Given the description of an element on the screen output the (x, y) to click on. 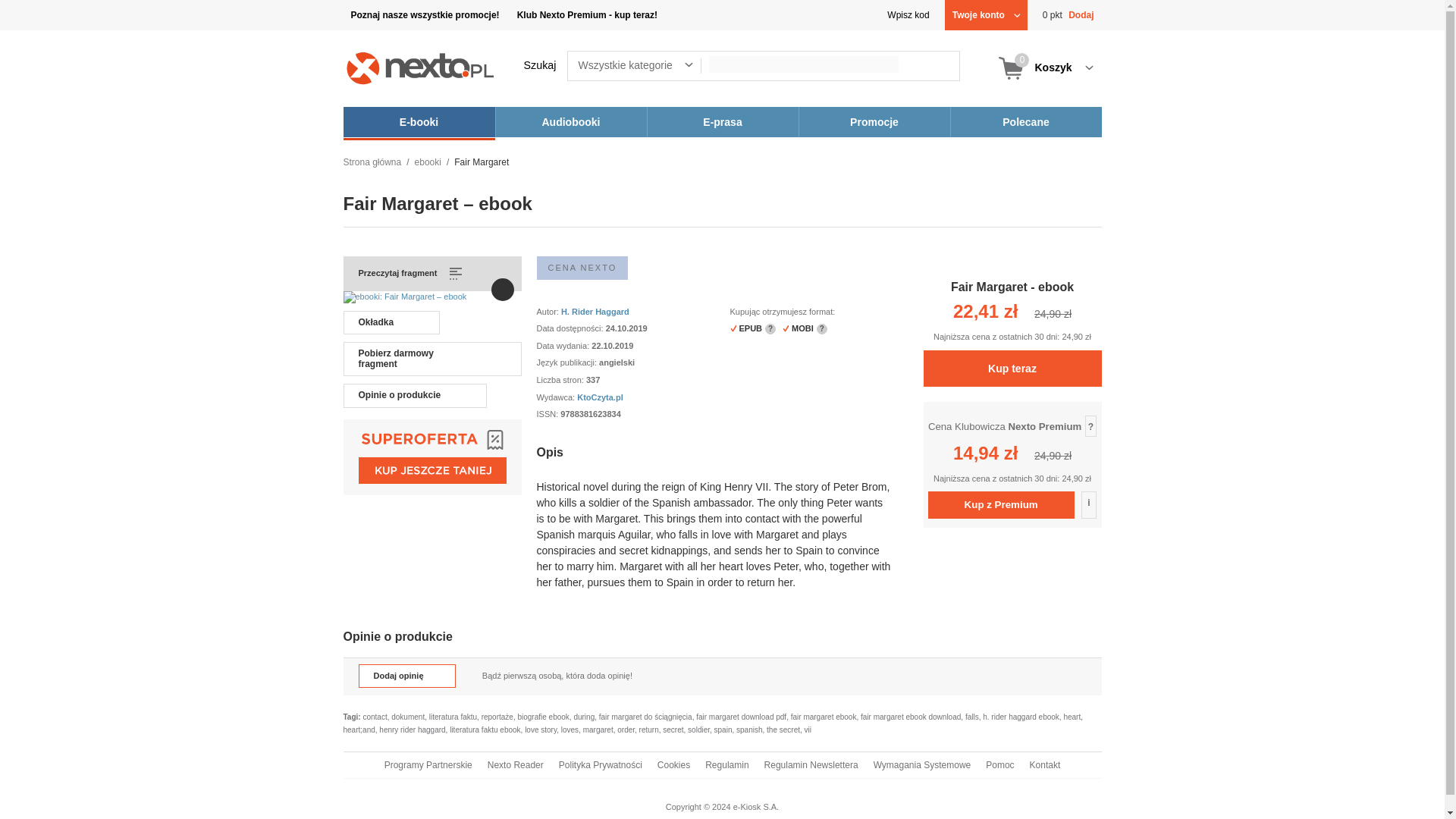
Wszystkie kategorie (644, 65)
Poznaj nasze wszystkie promocje! (424, 15)
Twoje konto (1044, 67)
KtoCzyta.pl (985, 15)
Cena Nexto (599, 397)
0 pkt Dodaj (582, 267)
Klub Nexto Premium - kup teraz! (1068, 15)
E-booki (587, 15)
H. Rider Haggard (418, 122)
